Given the description of an element on the screen output the (x, y) to click on. 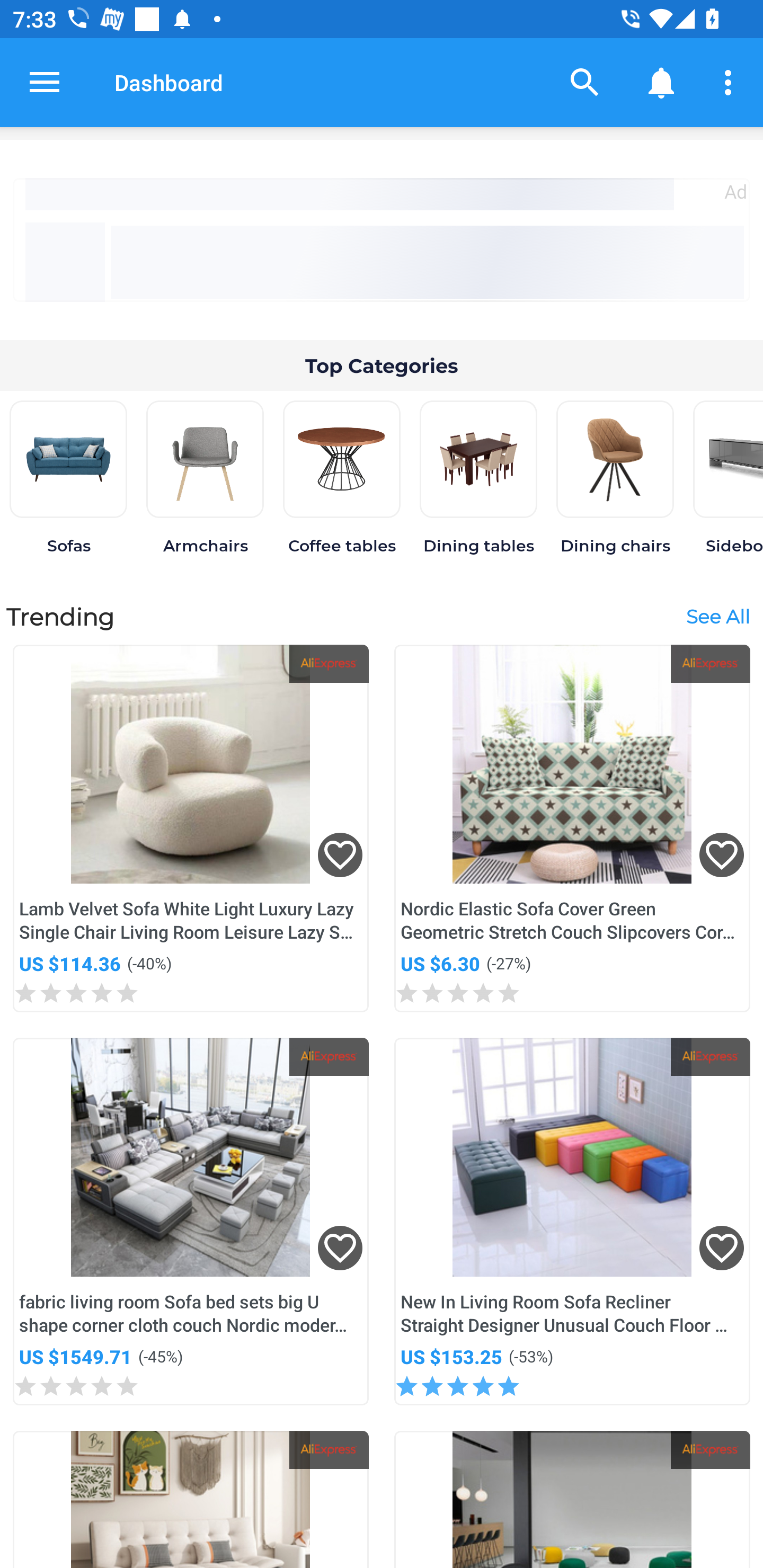
Open navigation drawer (44, 82)
Search (585, 81)
More options (731, 81)
See All (717, 615)
